Given the description of an element on the screen output the (x, y) to click on. 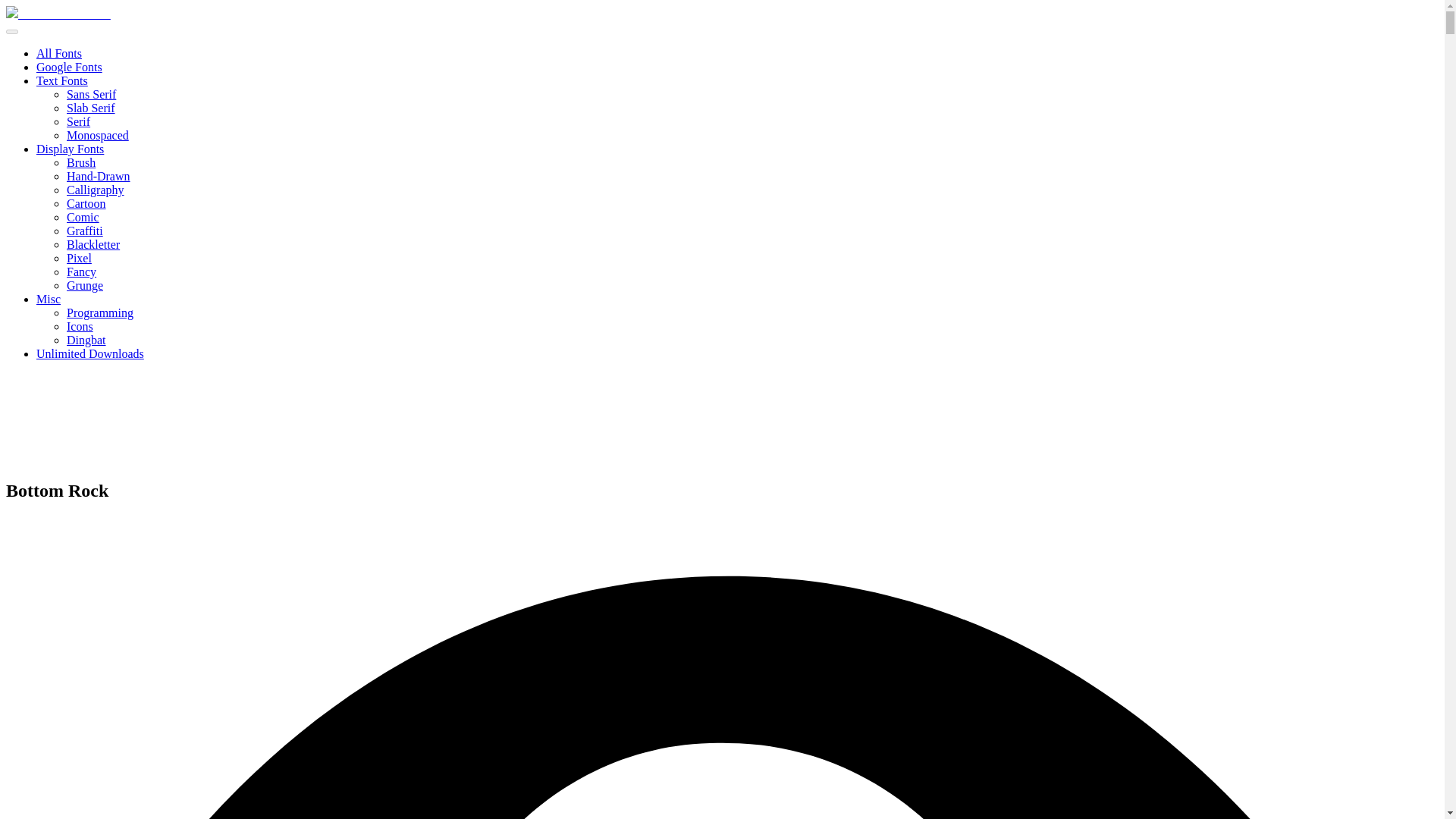
Blackletter (92, 244)
Slab Serif (90, 107)
Monospaced (97, 134)
Google Fonts (68, 66)
Google Fonts (68, 66)
Fancy (81, 271)
Blackletter (92, 244)
Sans Serif (91, 93)
Dingbat (86, 339)
Comic (82, 216)
